Given the description of an element on the screen output the (x, y) to click on. 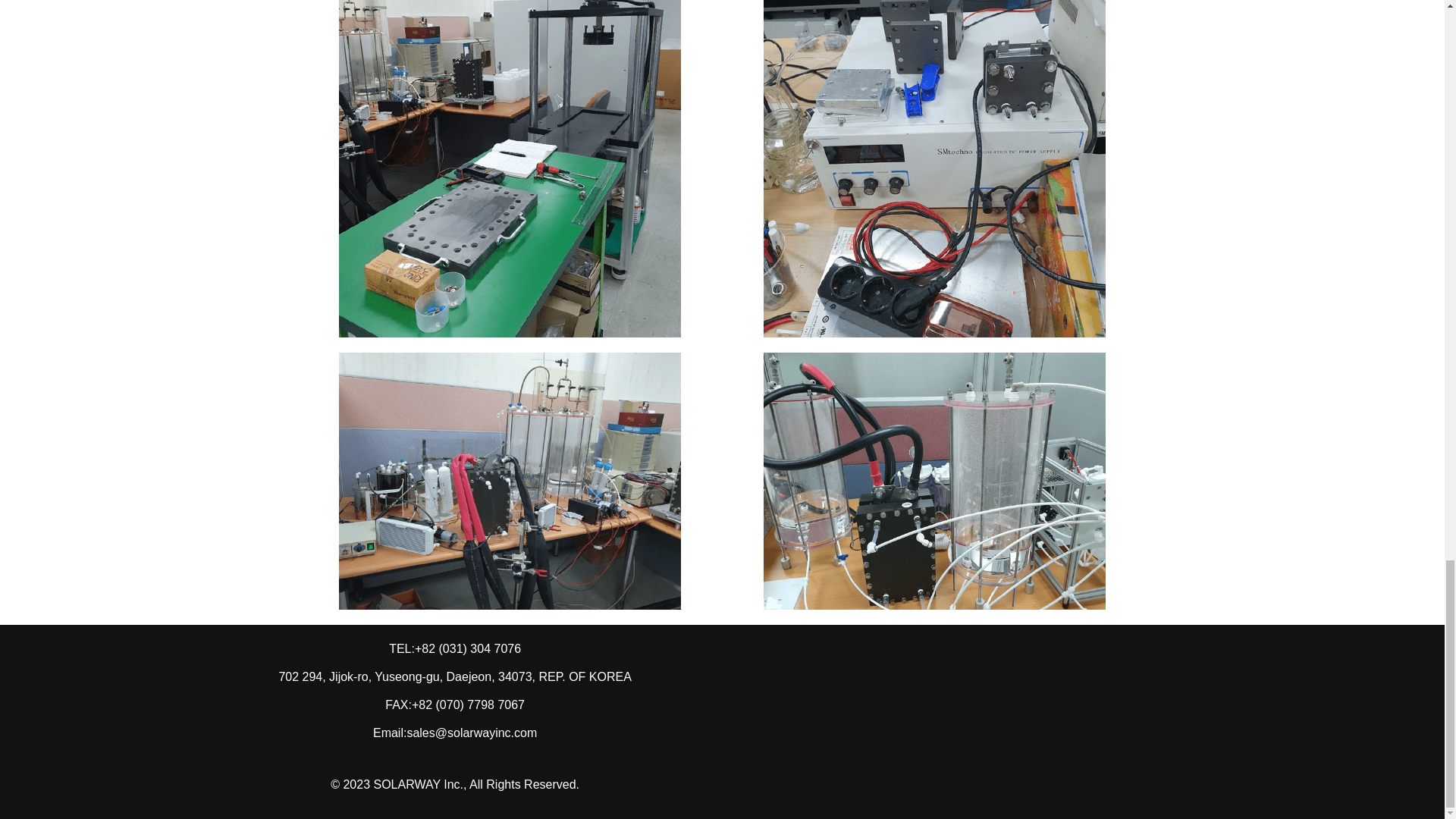
702 294, Jijok-ro, Yuseong-gu, Daejeon, 34073, REP. OF KOREA (454, 676)
